Given the description of an element on the screen output the (x, y) to click on. 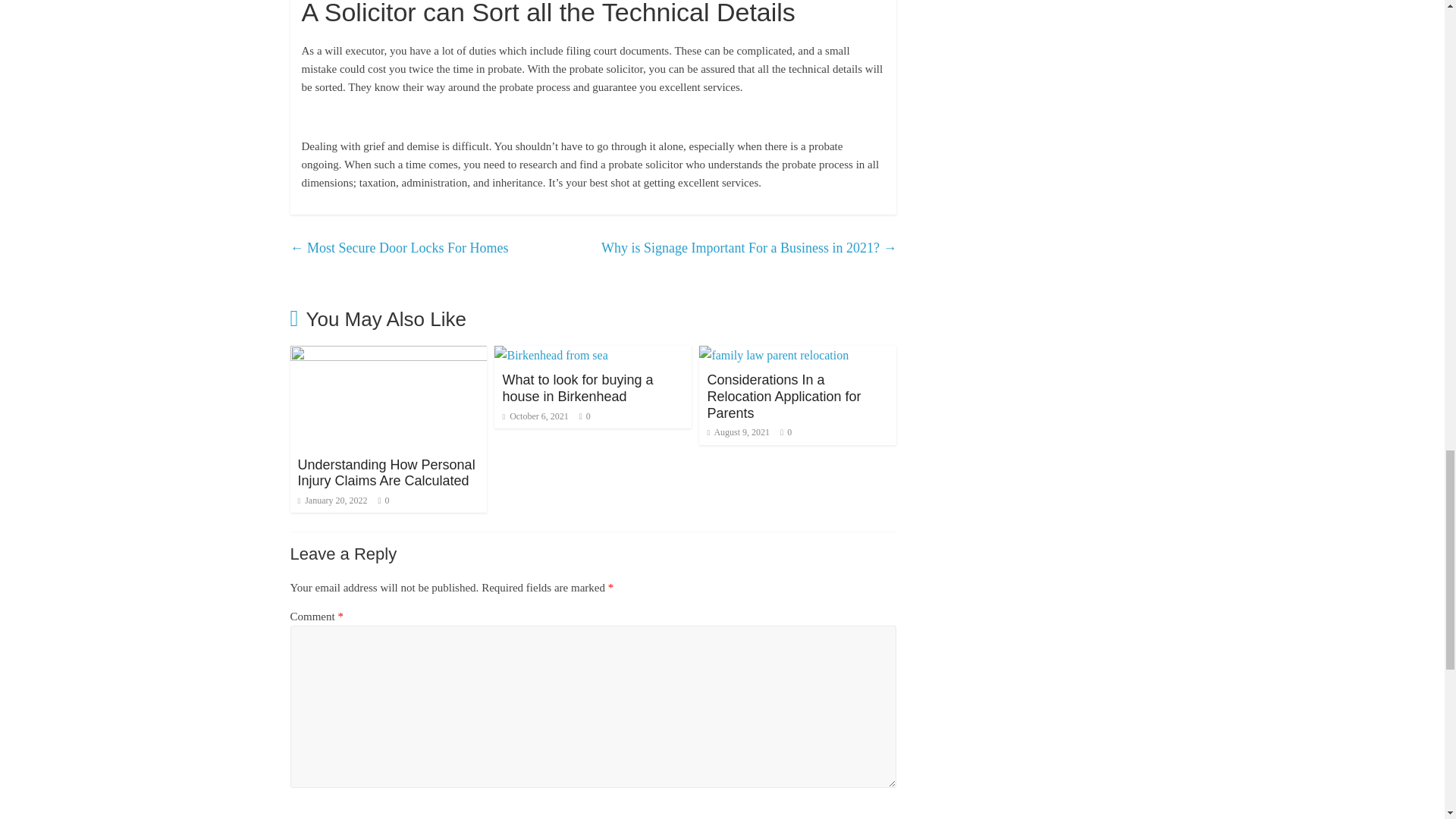
Understanding How Personal Injury Claims Are Calculated (385, 472)
Understanding How Personal Injury Claims Are Calculated (387, 354)
What to look for buying a house in Birkenhead (577, 388)
Understanding How Personal Injury Claims Are Calculated (385, 472)
October 6, 2021 (534, 416)
What to look for buying a house in Birkenhead (551, 354)
10:57 am (331, 500)
Considerations In a Relocation Application for Parents (783, 396)
January 20, 2022 (331, 500)
